Given the description of an element on the screen output the (x, y) to click on. 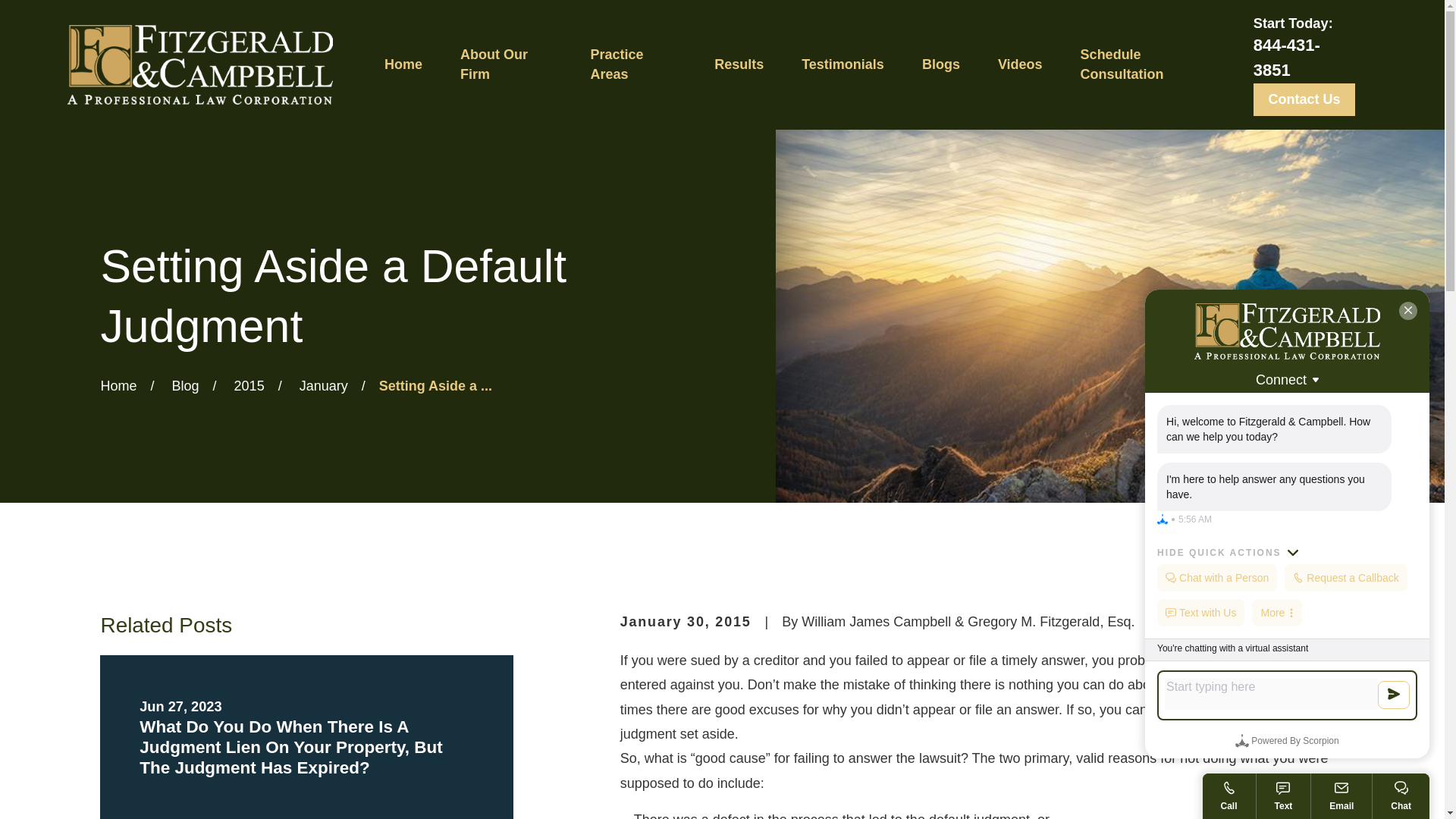
Testimonials (842, 64)
Practice Areas (633, 64)
Home (198, 65)
Go Home (118, 385)
About Our Firm (506, 64)
